Given the description of an element on the screen output the (x, y) to click on. 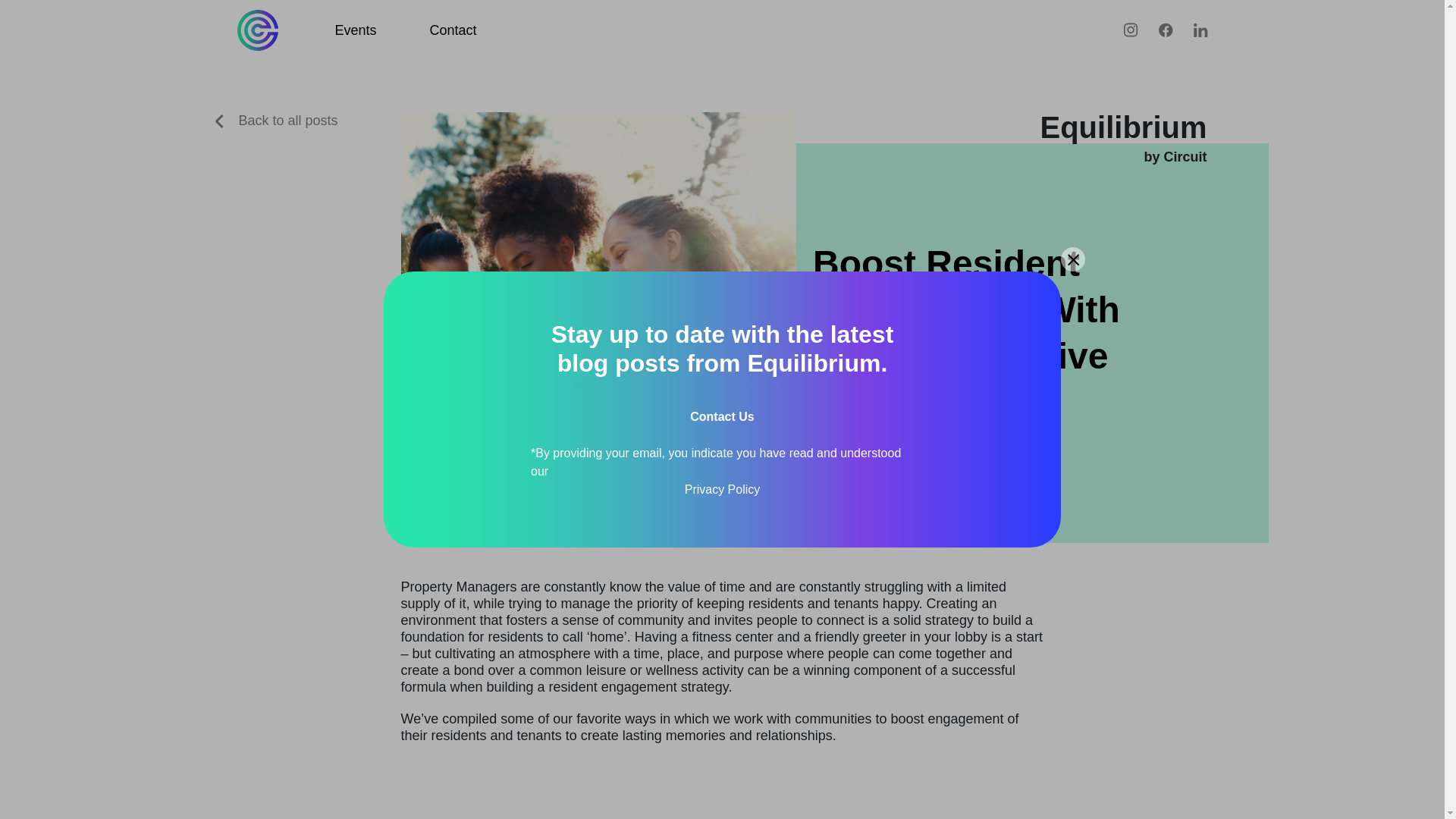
Back to all posts (276, 120)
Contact (453, 29)
Events (355, 29)
Privacy Policy (722, 489)
Contact Us (722, 416)
